Given the description of an element on the screen output the (x, y) to click on. 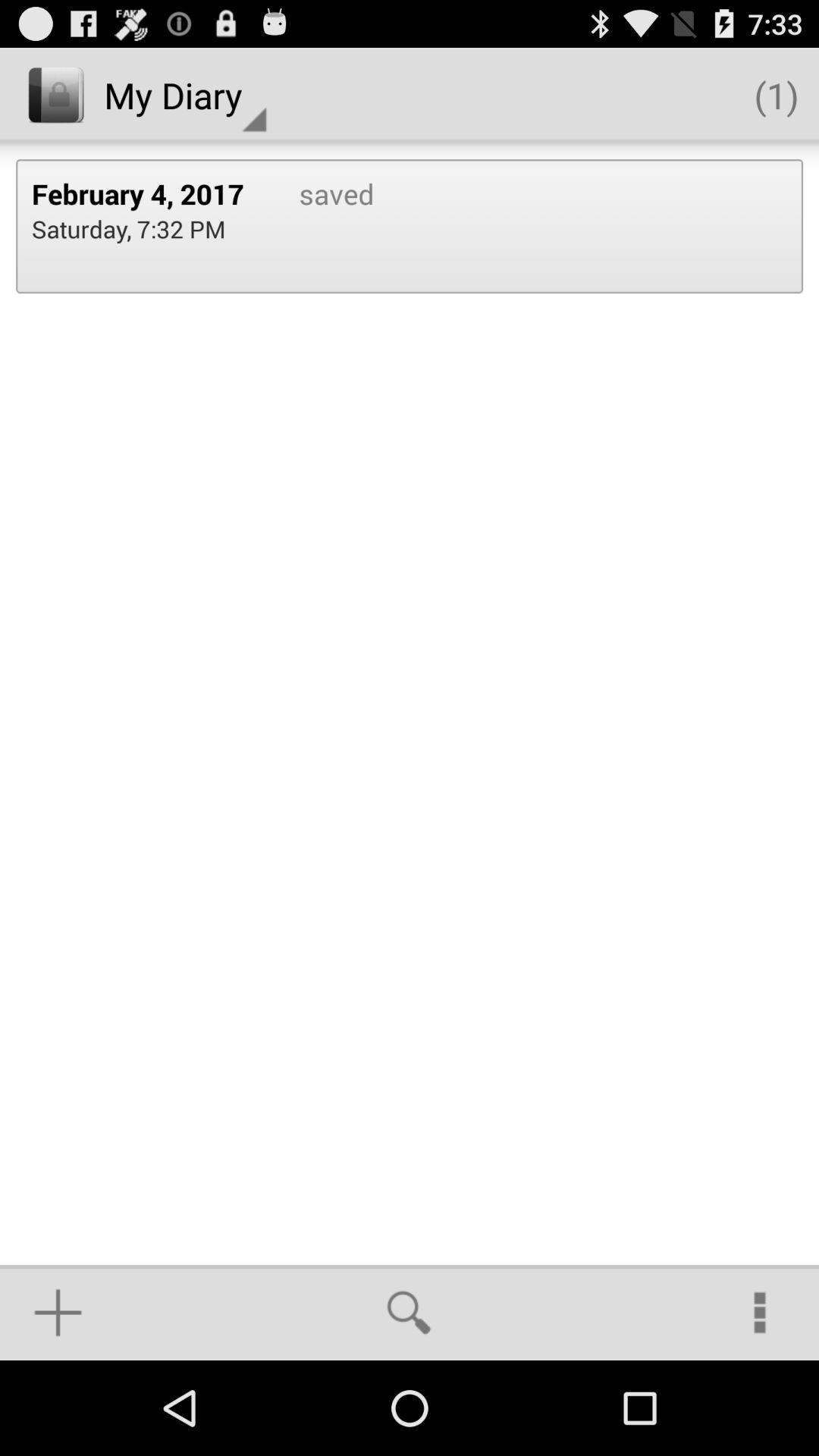
scroll to february 4, 2017 item (149, 193)
